Given the description of an element on the screen output the (x, y) to click on. 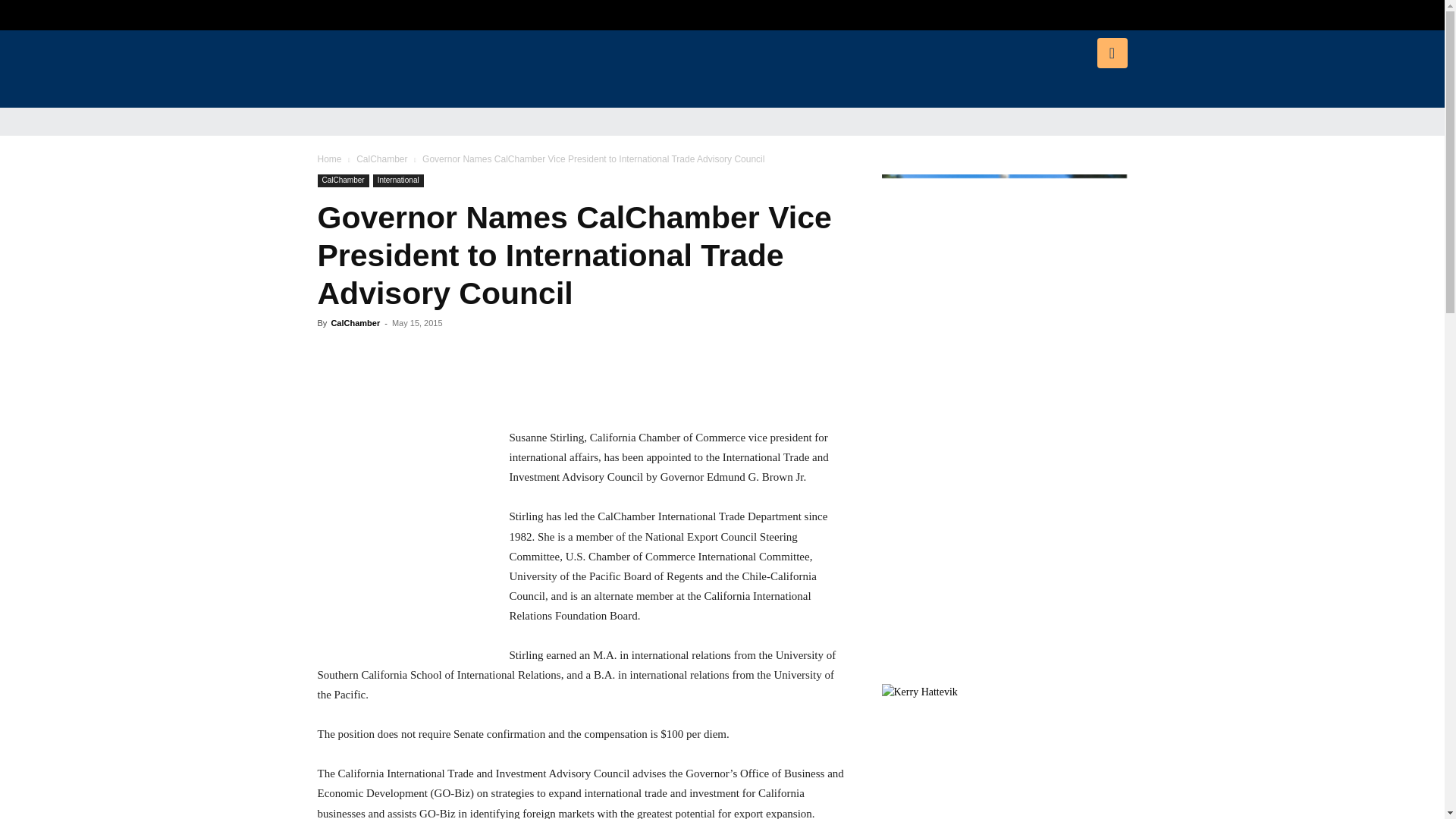
International (397, 180)
topFacebookLike (430, 350)
CalChamber (381, 158)
CalChamber (342, 180)
CalChamber (355, 322)
Home (328, 158)
View all posts in CalChamber (381, 158)
